Given the description of an element on the screen output the (x, y) to click on. 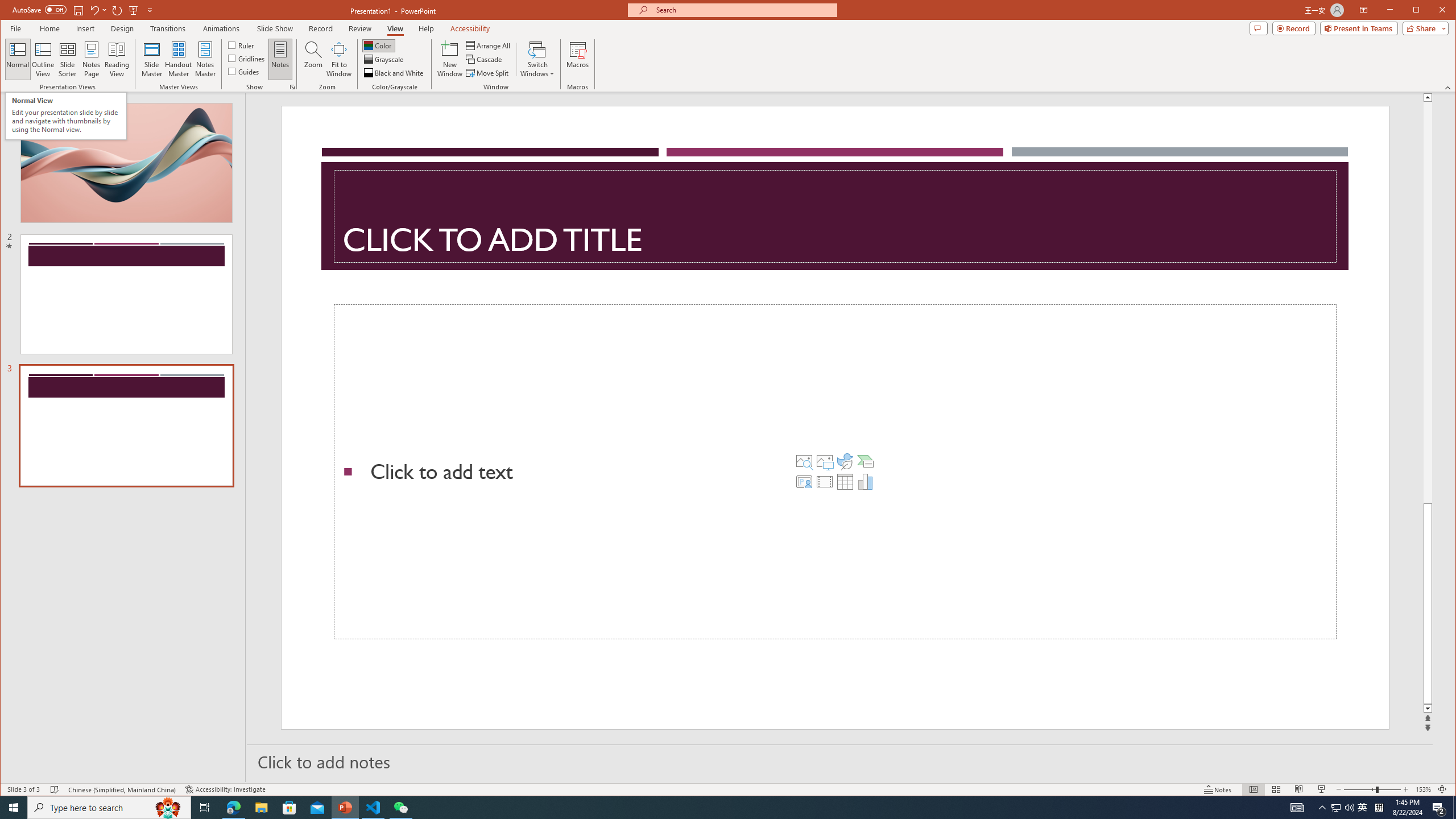
Cascade (484, 59)
Zoom 153% (1422, 789)
Move Split (488, 72)
